Given the description of an element on the screen output the (x, y) to click on. 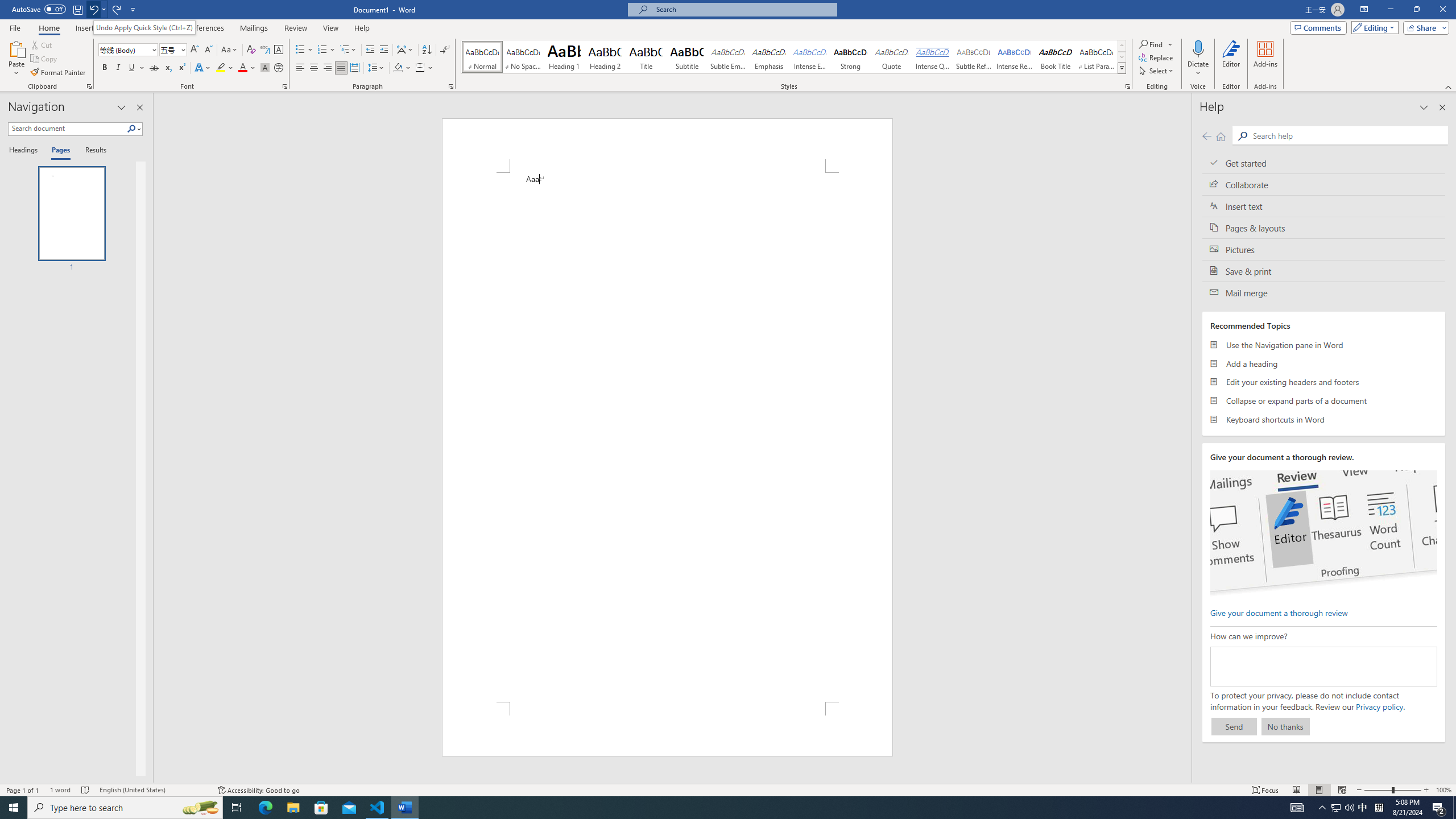
Subtle Emphasis (727, 56)
Intense Quote (932, 56)
